Given the description of an element on the screen output the (x, y) to click on. 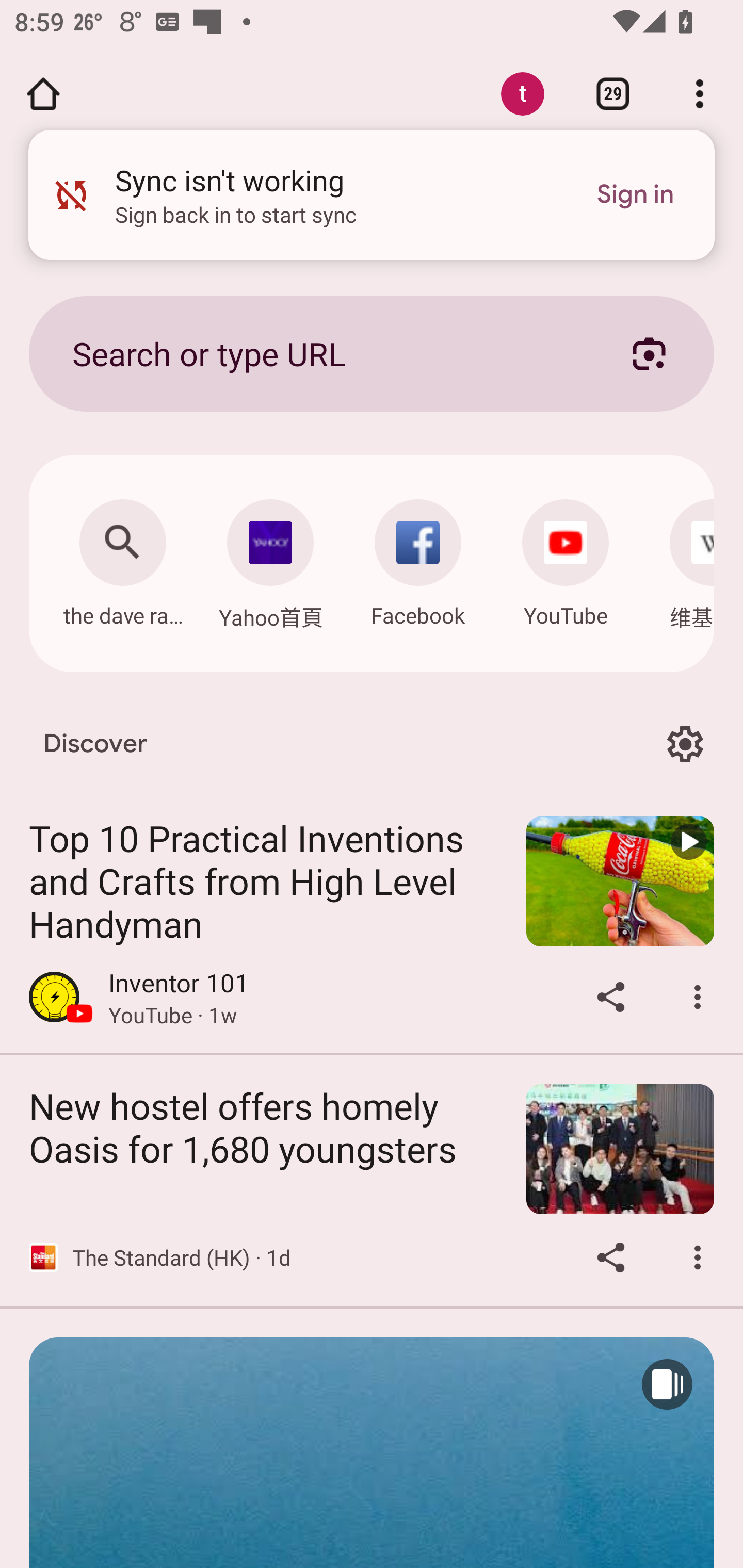
Open the home page (43, 93)
Switch or close tabs (612, 93)
Customize and control Google Chrome (699, 93)
Sign in (634, 195)
Search or type URL (327, 353)
Search with your camera using Google Lens (648, 353)
Search: the dave ramsey show the dave ramsey show (122, 558)
Navigate: Yahoo首頁: hk.mobi.yahoo.com Yahoo首頁 (270, 558)
Navigate: Facebook: m.facebook.com Facebook (417, 558)
Navigate: YouTube: m.youtube.com YouTube (565, 558)
Options for Discover (684, 743)
